Given the description of an element on the screen output the (x, y) to click on. 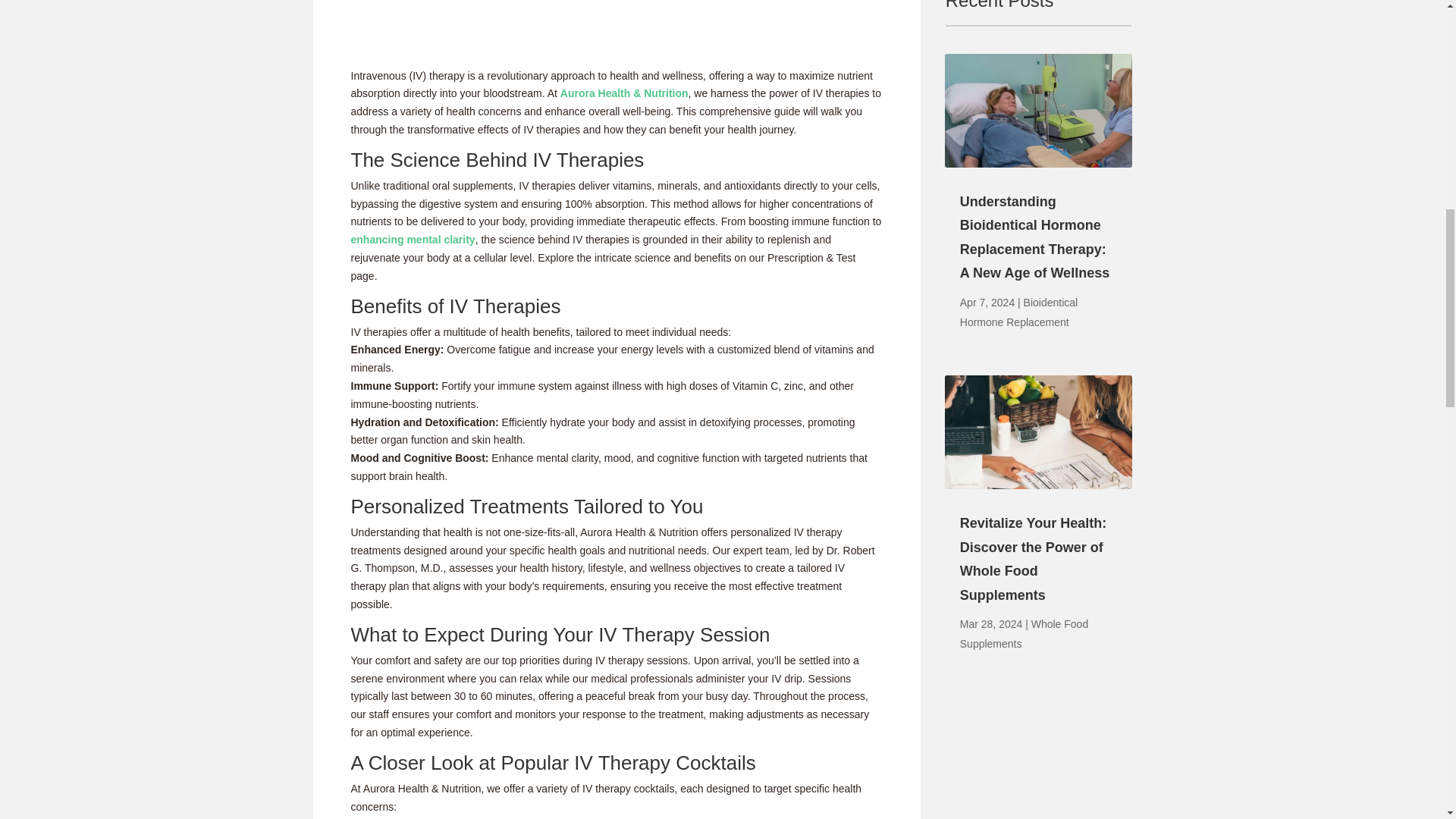
enhancing mental clarity (412, 239)
Bioidentical Hormone Replacement (1018, 312)
Whole Food Supplements (1023, 634)
